Given the description of an element on the screen output the (x, y) to click on. 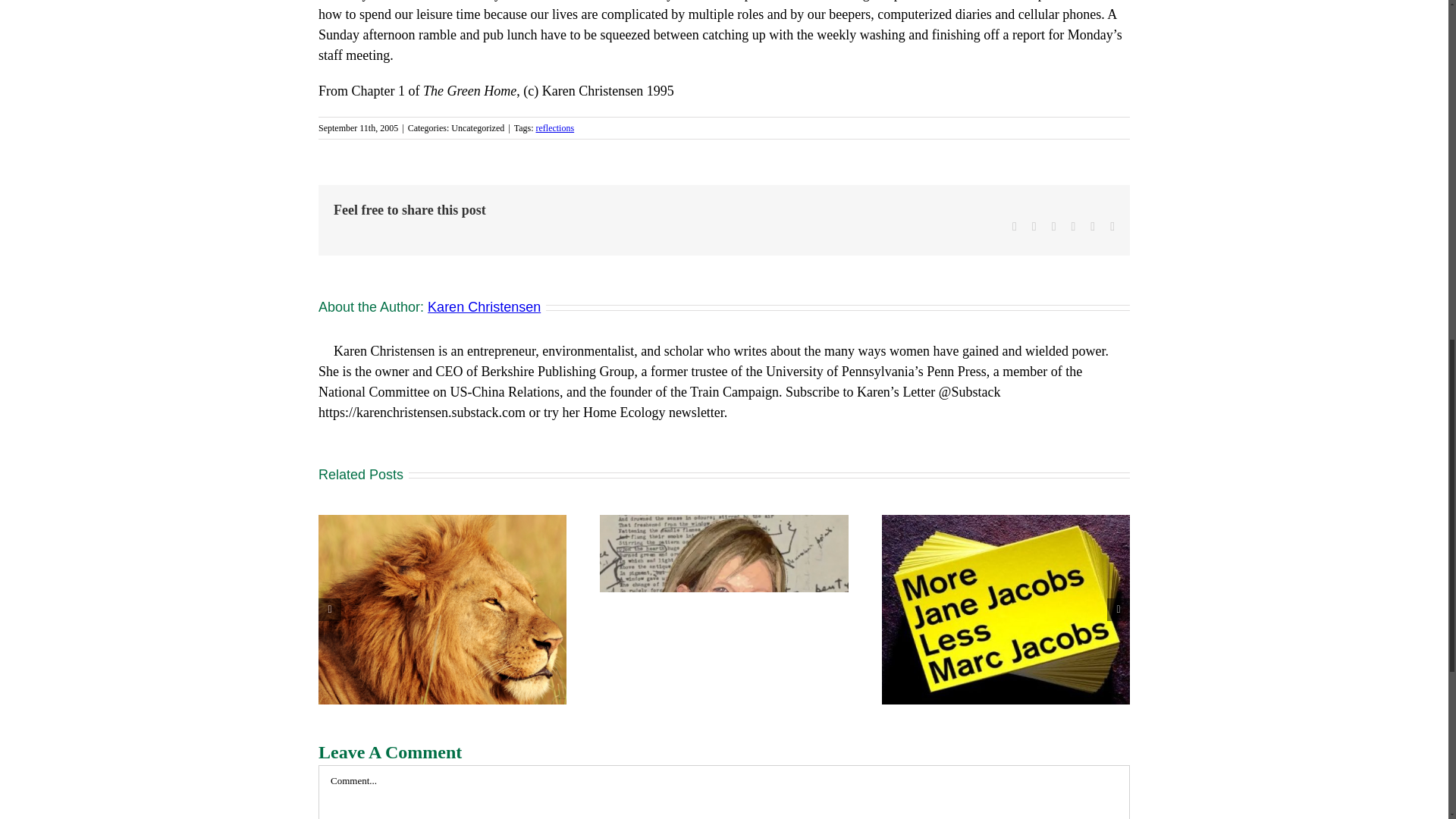
Posts by Karen Christensen (484, 306)
reflections (554, 127)
Karen Christensen (484, 306)
